Given the description of an element on the screen output the (x, y) to click on. 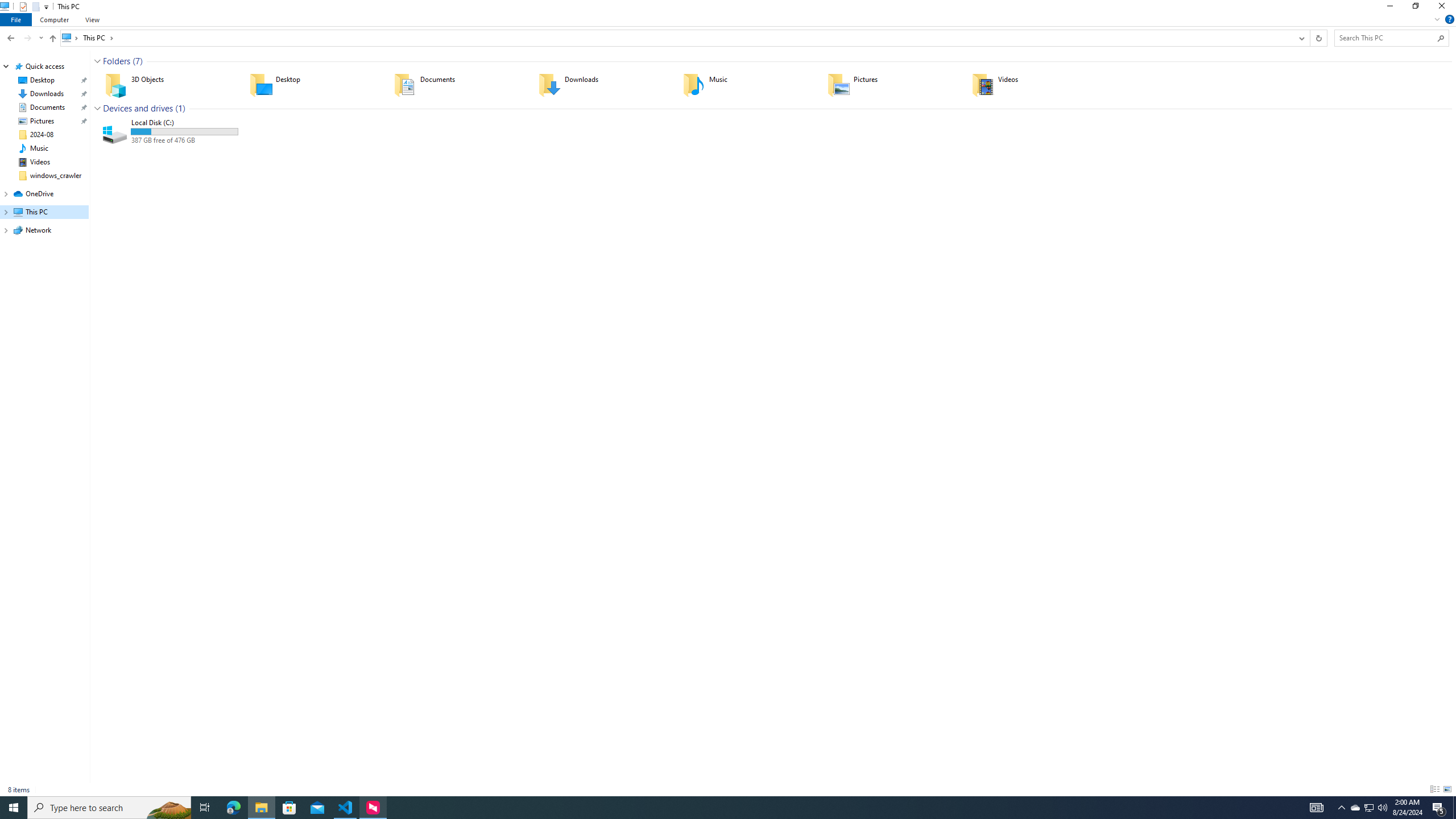
Back to Network (Alt + Left Arrow) (10, 37)
Quick Access Toolbar (29, 6)
Navigation buttons (24, 37)
Pictures (892, 84)
Previous Locations (1301, 37)
Recent locations (40, 37)
System (6, 6)
Search (1441, 37)
Computer (54, 19)
File tab (16, 19)
Music (747, 84)
3D Objects (170, 84)
